Given the description of an element on the screen output the (x, y) to click on. 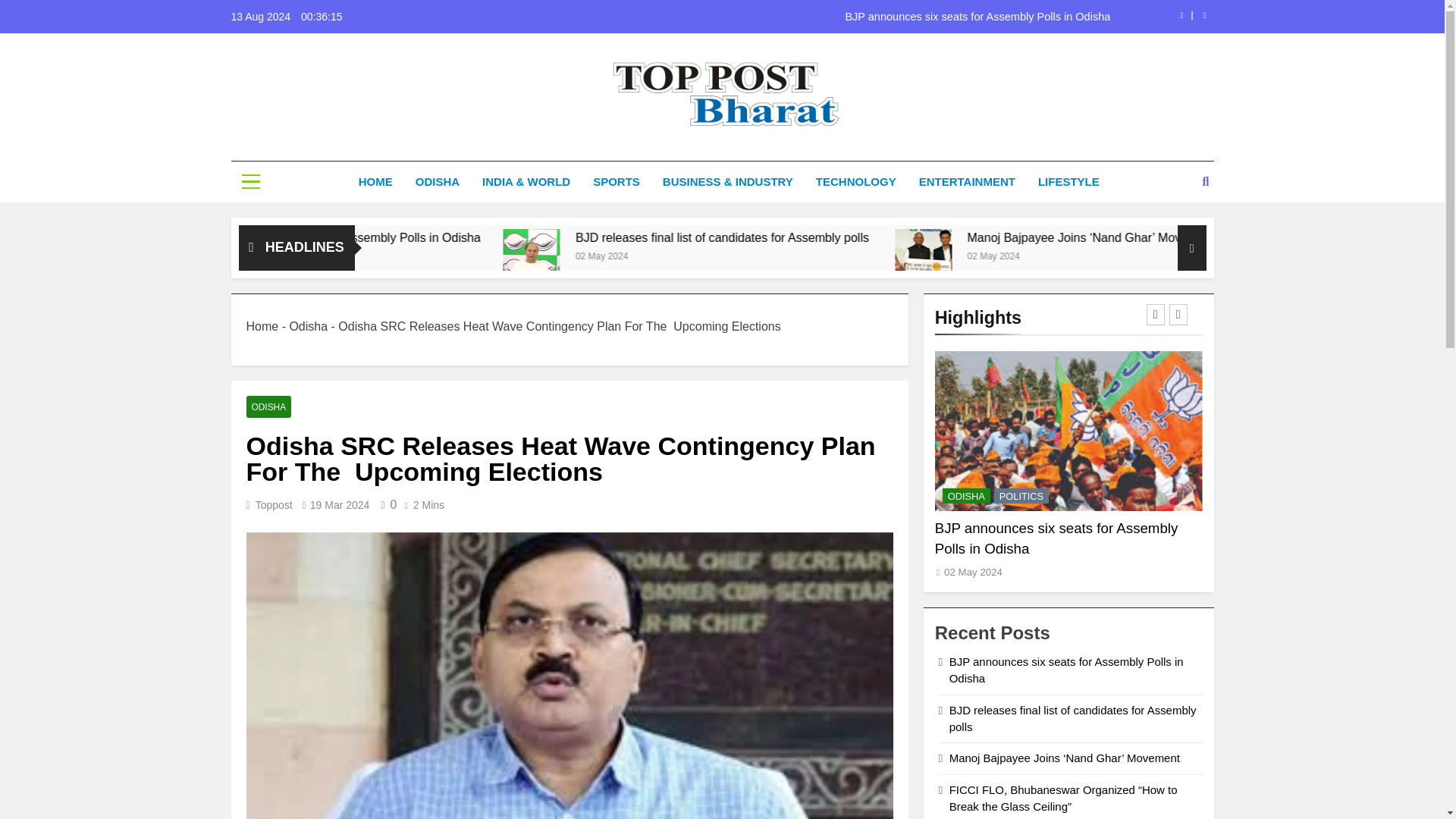
HOME (375, 181)
TECHNOLOGY (856, 181)
BJP announces six seats for Assembly Polls in Odisha (817, 16)
BJP announces six seats for Assembly Polls in Odisha (480, 237)
LIFESTYLE (1068, 181)
Top Post Bharat (598, 154)
SPORTS (615, 181)
ENTERTAINMENT (966, 181)
